Given the description of an element on the screen output the (x, y) to click on. 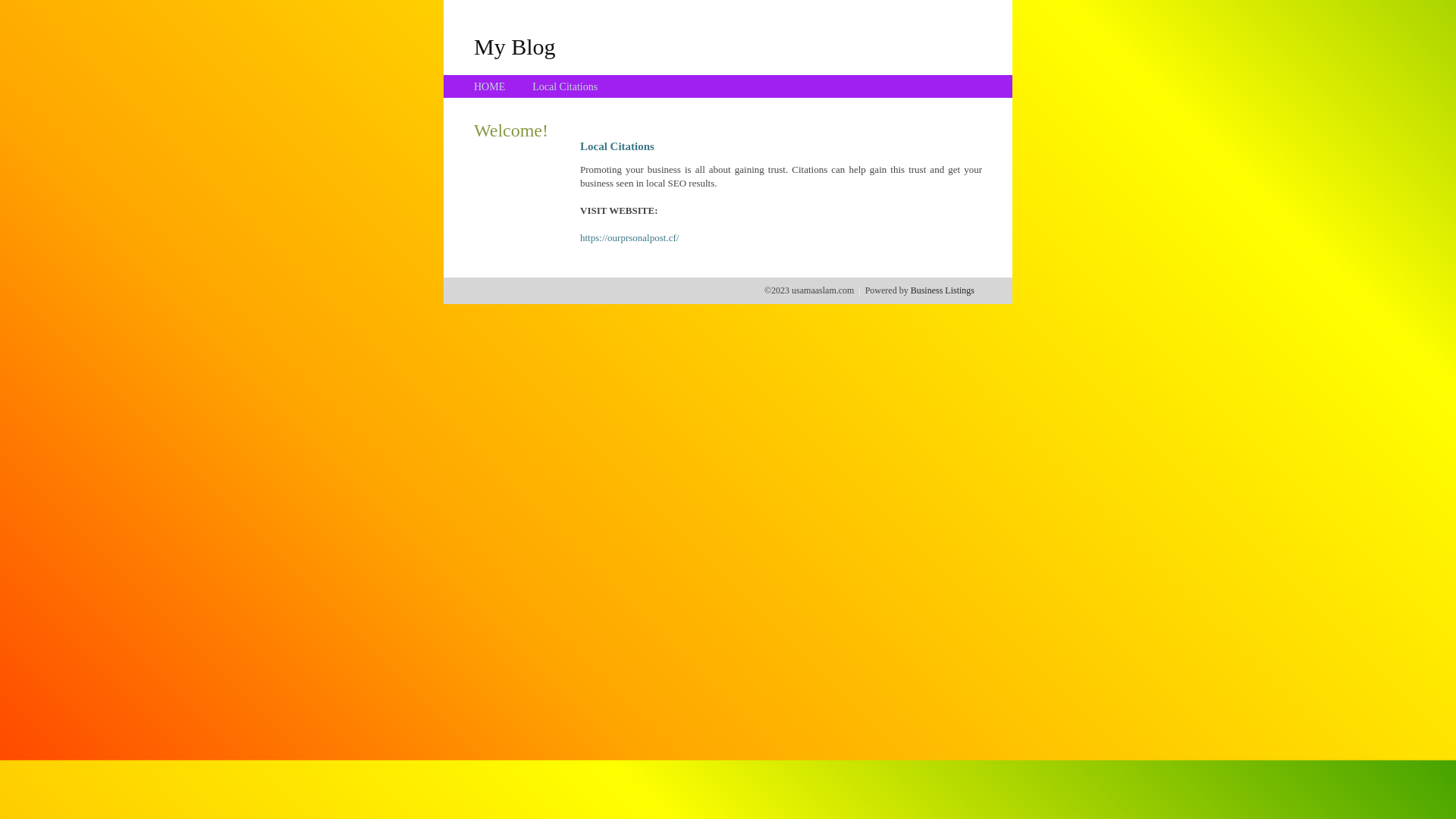
Local Citations Element type: text (564, 86)
https://ourprsonalpost.cf/ Element type: text (629, 237)
Business Listings Element type: text (942, 290)
My Blog Element type: text (514, 46)
HOME Element type: text (489, 86)
